Given the description of an element on the screen output the (x, y) to click on. 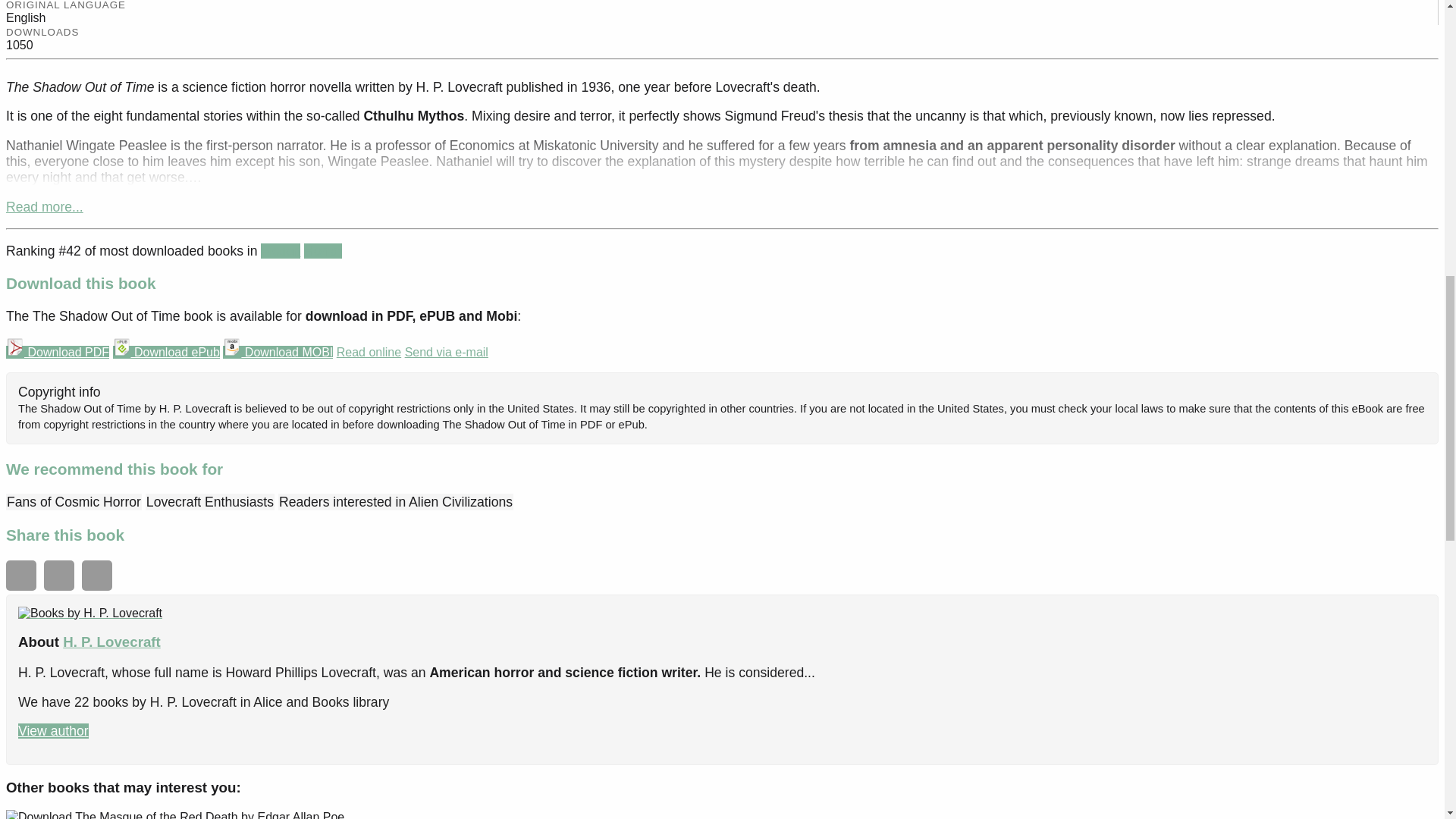
The Shadow Out of Time in ePub (165, 351)
View author (52, 730)
Send via e-mail (445, 351)
Download ePub (165, 351)
Download MOBI (277, 351)
Horror (323, 250)
Facebook (58, 575)
H. P. Lovecraft (111, 641)
Share on Whatsapp (20, 575)
Download PDF (57, 351)
The Shadow Out of Time in MOBI (277, 351)
Fiction (279, 250)
Download The Masque of the Red Death by Edgar Allan Poe (174, 814)
The Shadow Out of Time in PDF (57, 351)
Read online (368, 351)
